Given the description of an element on the screen output the (x, y) to click on. 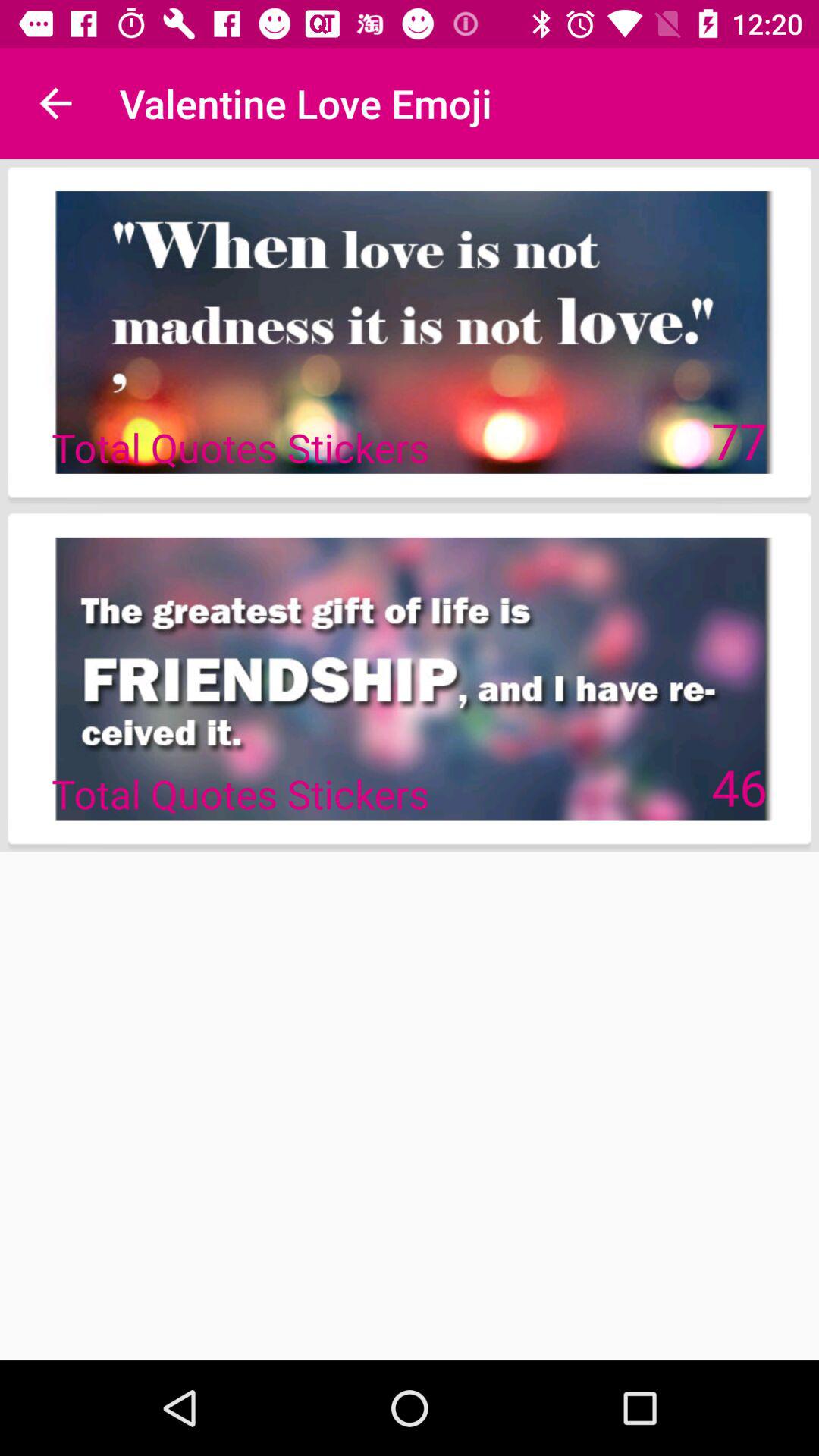
click item next to the total quotes stickers item (739, 786)
